Given the description of an element on the screen output the (x, y) to click on. 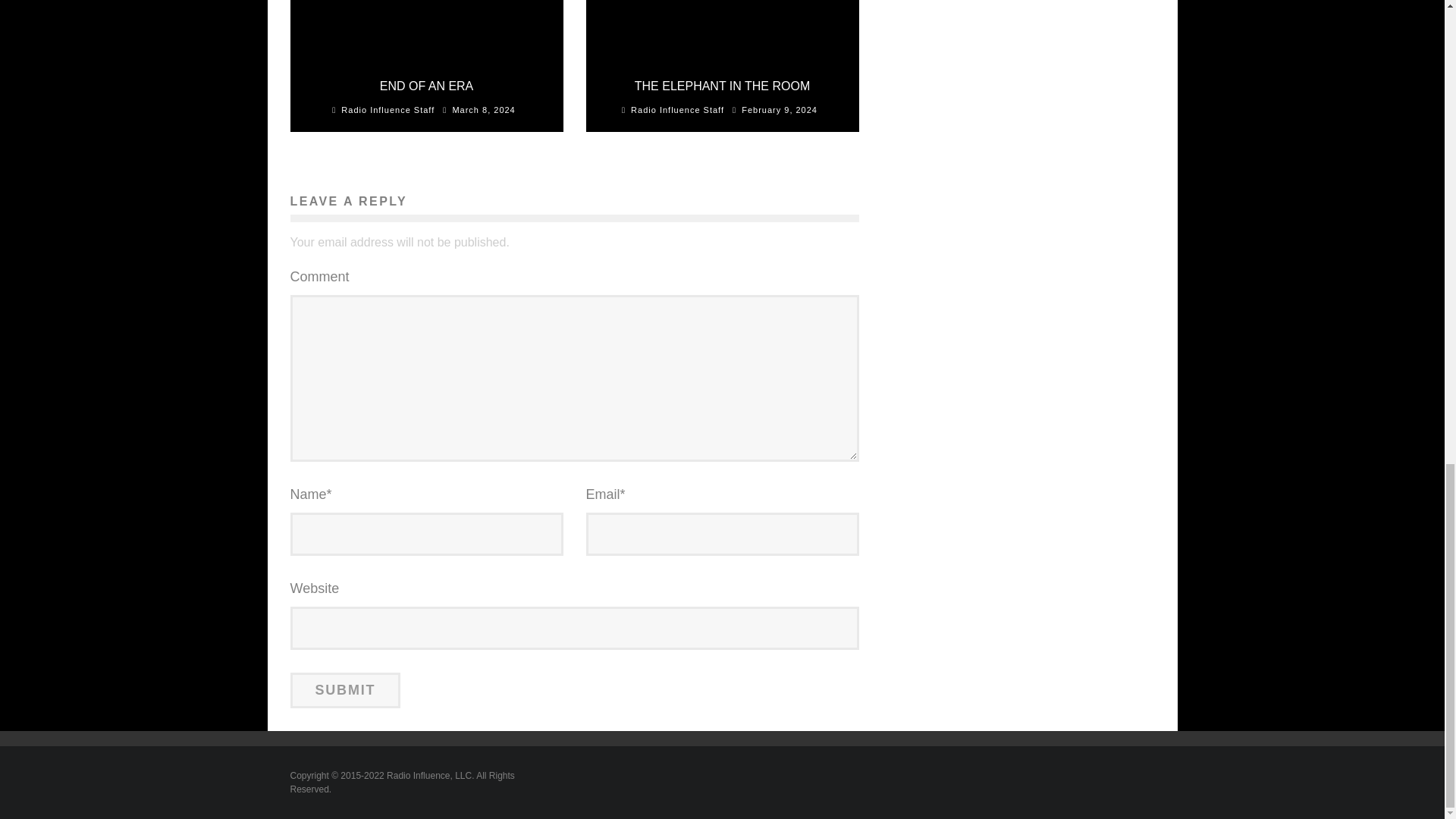
THE ELEPHANT IN THE ROOM (721, 85)
Radio Influence Staff (676, 109)
Radio Influence Staff (386, 109)
Submit (344, 689)
END OF AN ERA (427, 85)
